Given the description of an element on the screen output the (x, y) to click on. 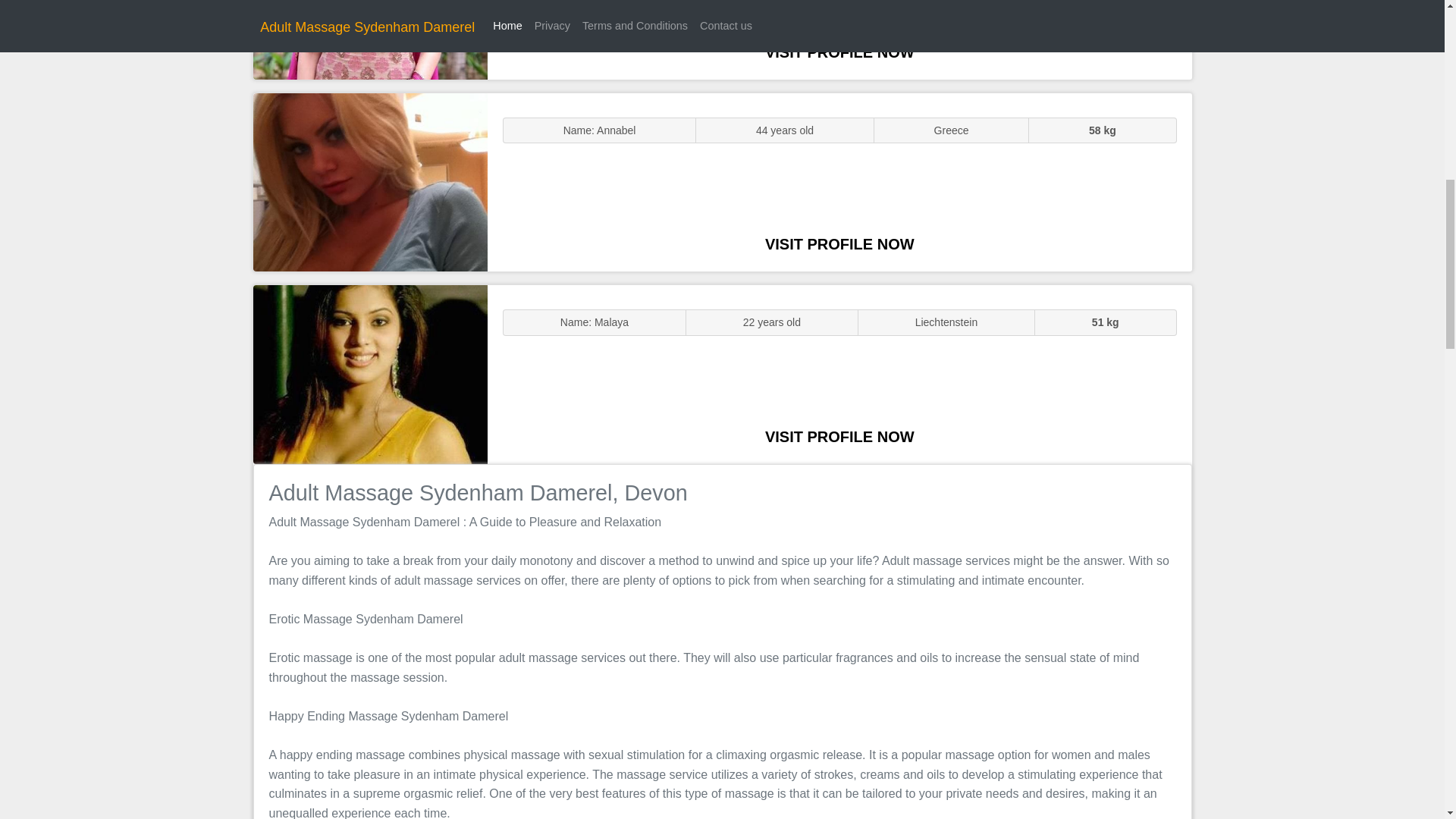
Sluts (370, 182)
Massage (370, 374)
VISIT PROFILE NOW (839, 436)
VISIT PROFILE NOW (839, 243)
Sluts (370, 39)
VISIT PROFILE NOW (839, 52)
